Given the description of an element on the screen output the (x, y) to click on. 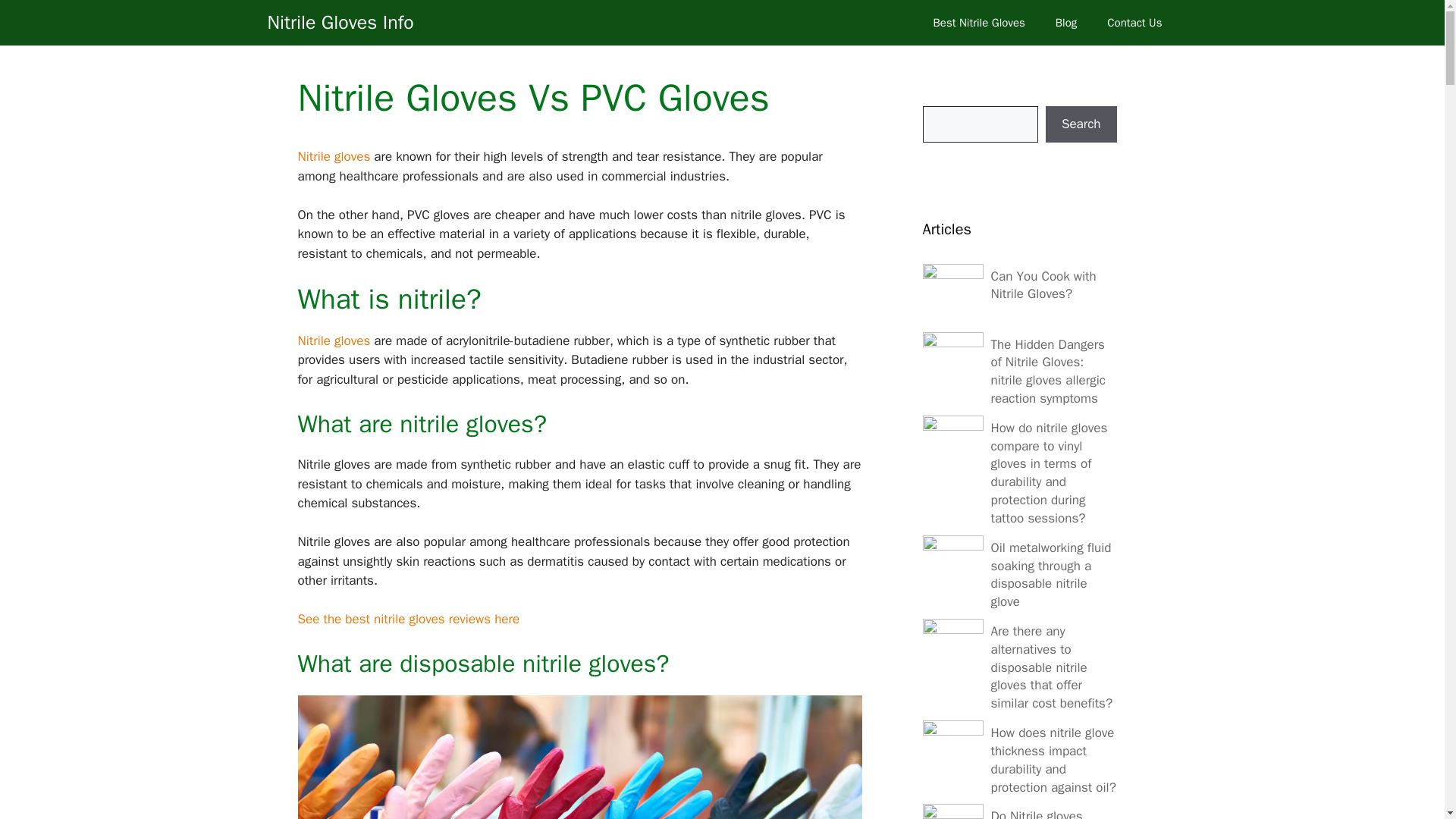
Contact Us (1134, 22)
Search (1080, 124)
See the best nitrile gloves reviews here (408, 618)
Do Nitrile gloves protect against all types of oils? (1041, 813)
Best Nitrile Gloves (979, 22)
Nitrile gloves (333, 156)
Nitrile Gloves Info (339, 22)
